Given the description of an element on the screen output the (x, y) to click on. 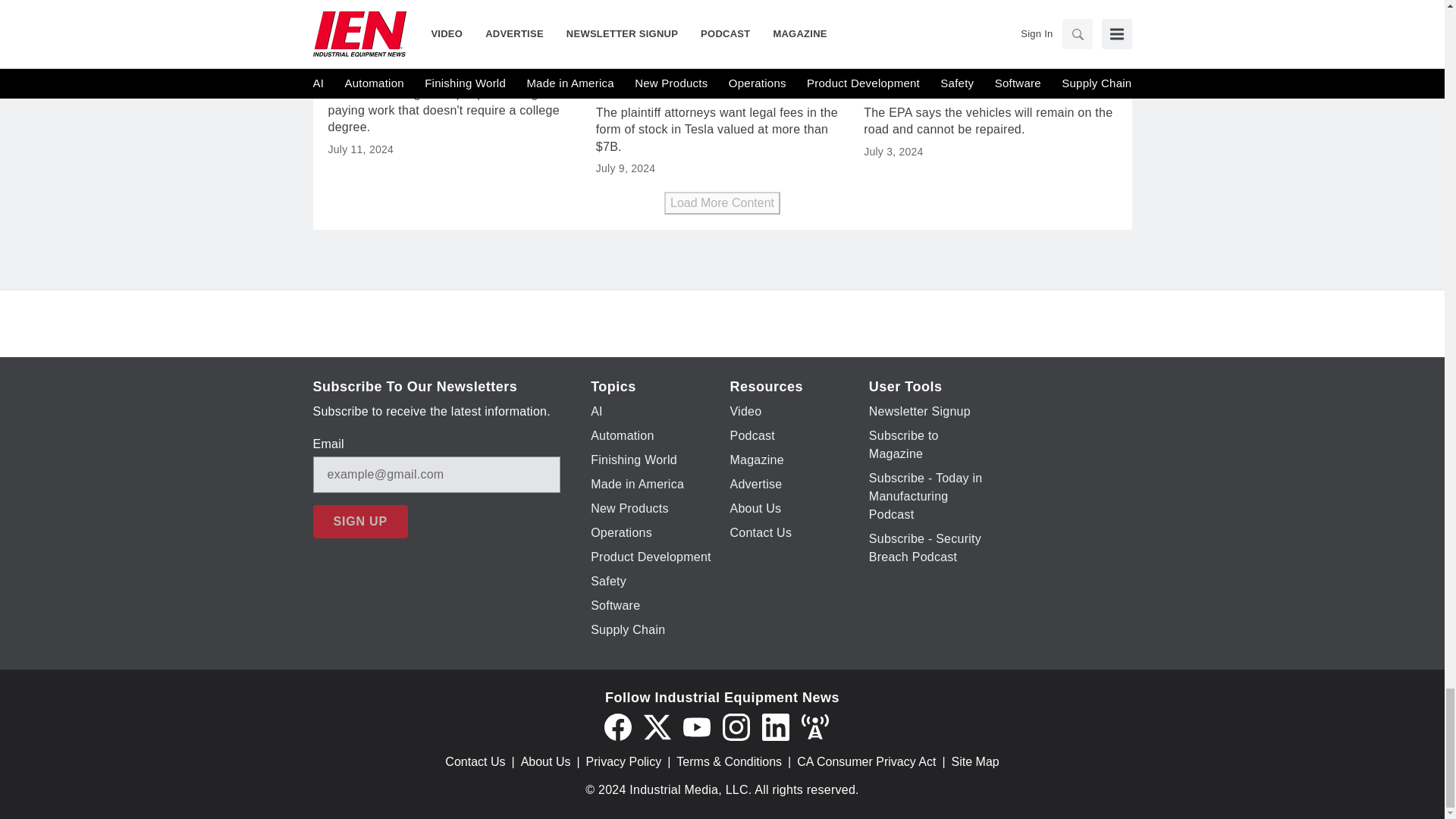
LinkedIn icon (775, 727)
Twitter X icon (656, 727)
Instagram icon (735, 727)
Facebook icon (617, 727)
YouTube icon (696, 727)
